Given the description of an element on the screen output the (x, y) to click on. 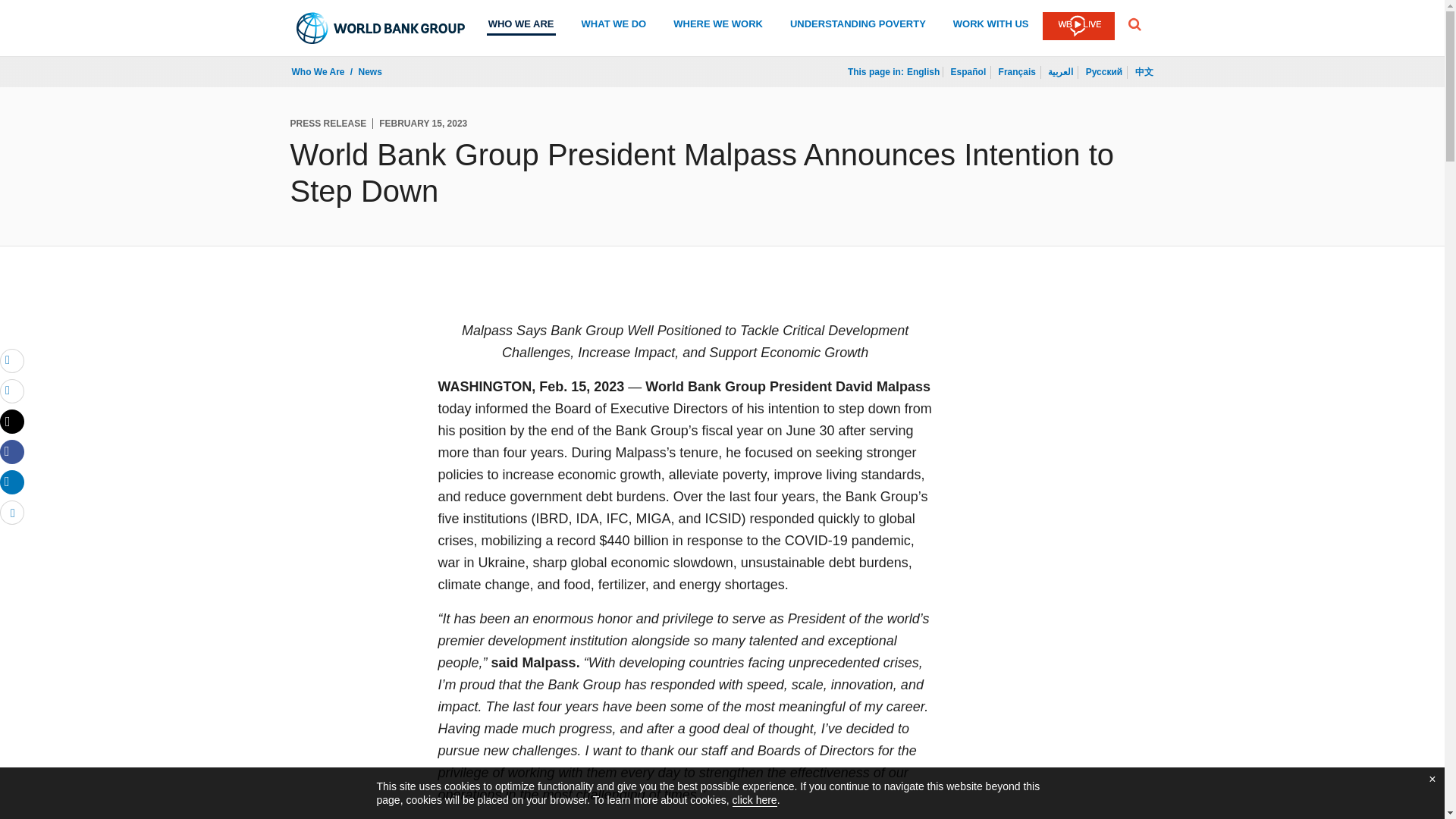
WHO WE ARE (521, 25)
Print (12, 391)
Email (12, 360)
WHAT WE DO (613, 25)
Share (12, 512)
Tweet (12, 421)
Share (12, 482)
The World Bank Group logo (380, 28)
Global Search (1134, 24)
